Given the description of an element on the screen output the (x, y) to click on. 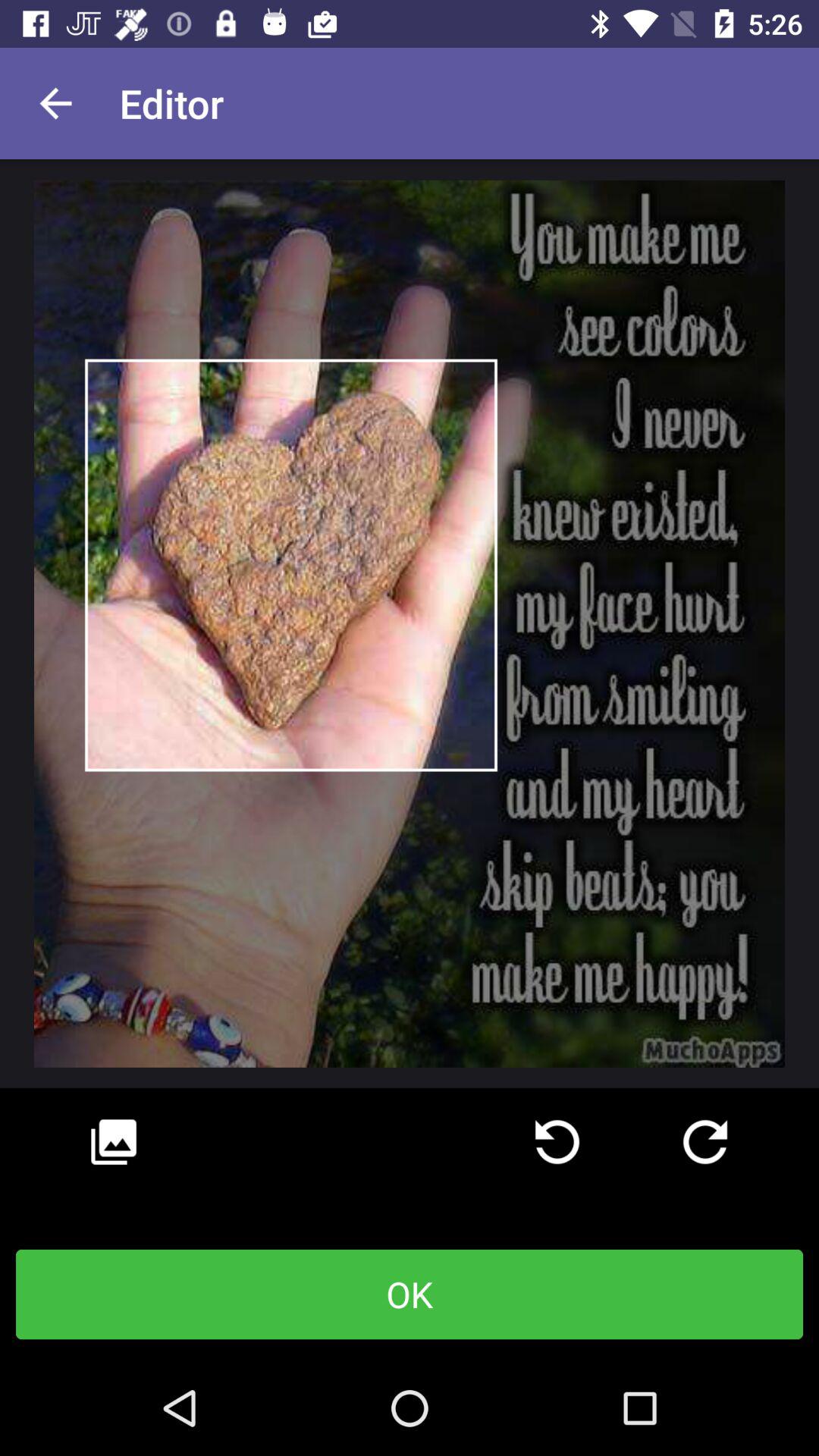
tap the item above ok icon (113, 1142)
